Given the description of an element on the screen output the (x, y) to click on. 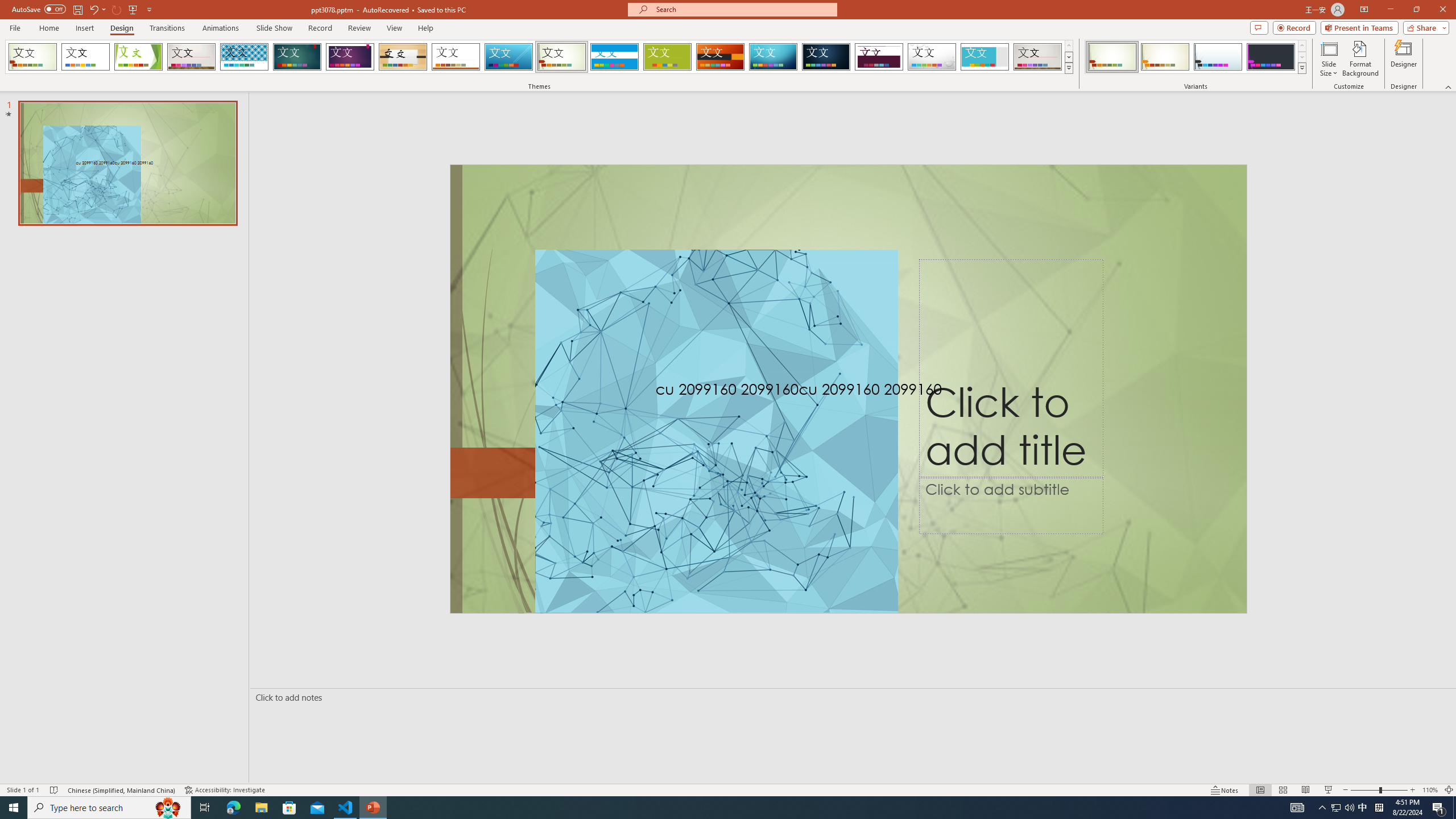
Format Background (1360, 58)
Zoom 110% (1430, 790)
Basis (667, 56)
AutomationID: SlideThemesGallery (539, 56)
Wisp (561, 56)
Themes (1068, 67)
Circuit (772, 56)
Ion Boardroom (350, 56)
